Given the description of an element on the screen output the (x, y) to click on. 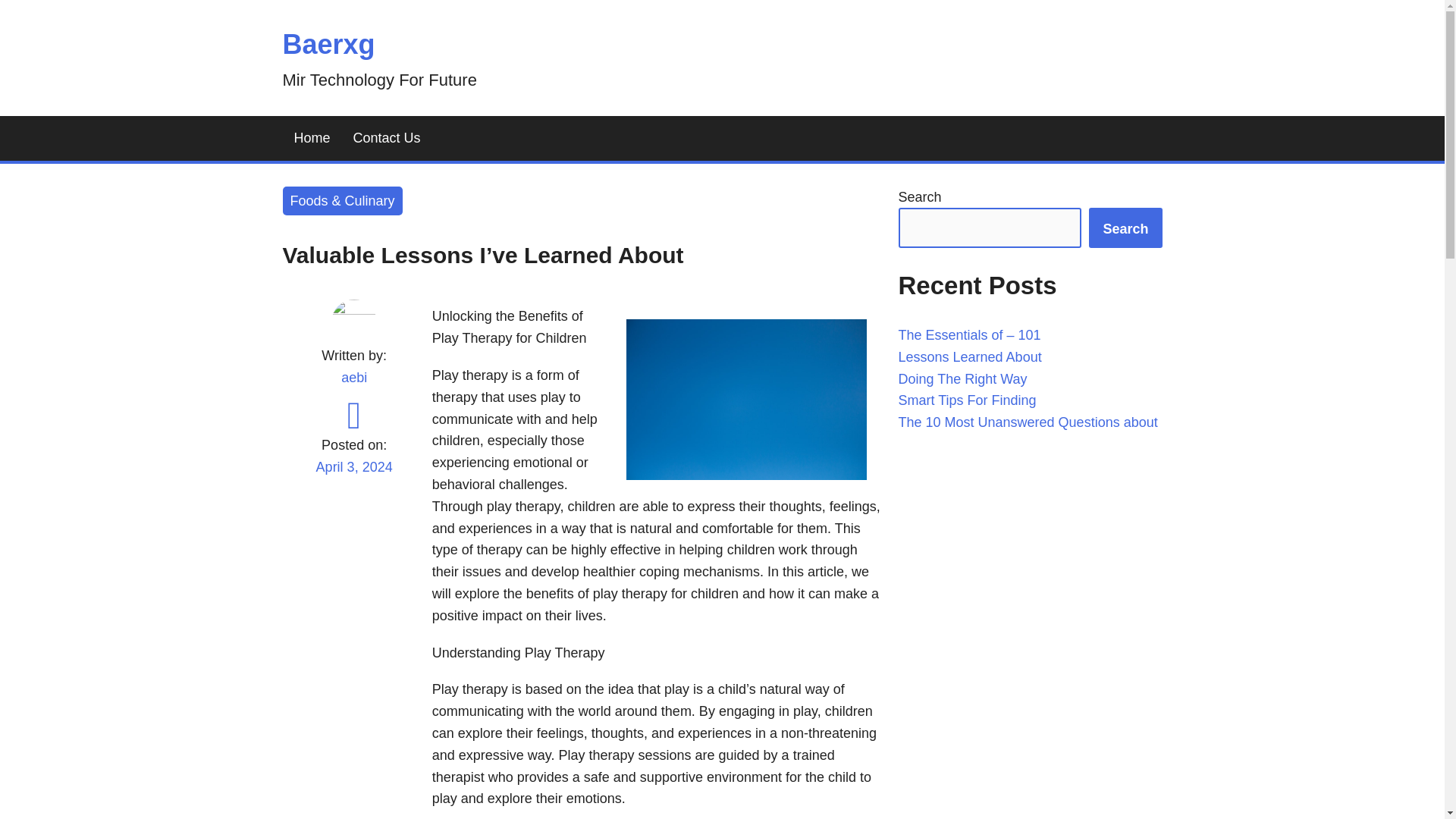
Home (311, 138)
aebi (353, 377)
The 10 Most Unanswered Questions about (1027, 421)
Search (1125, 228)
Lessons Learned About (969, 356)
April 3, 2024 (353, 476)
Smart Tips For Finding (966, 400)
Baerxg (328, 43)
Contact Us (387, 138)
Doing The Right Way (962, 378)
